Given the description of an element on the screen output the (x, y) to click on. 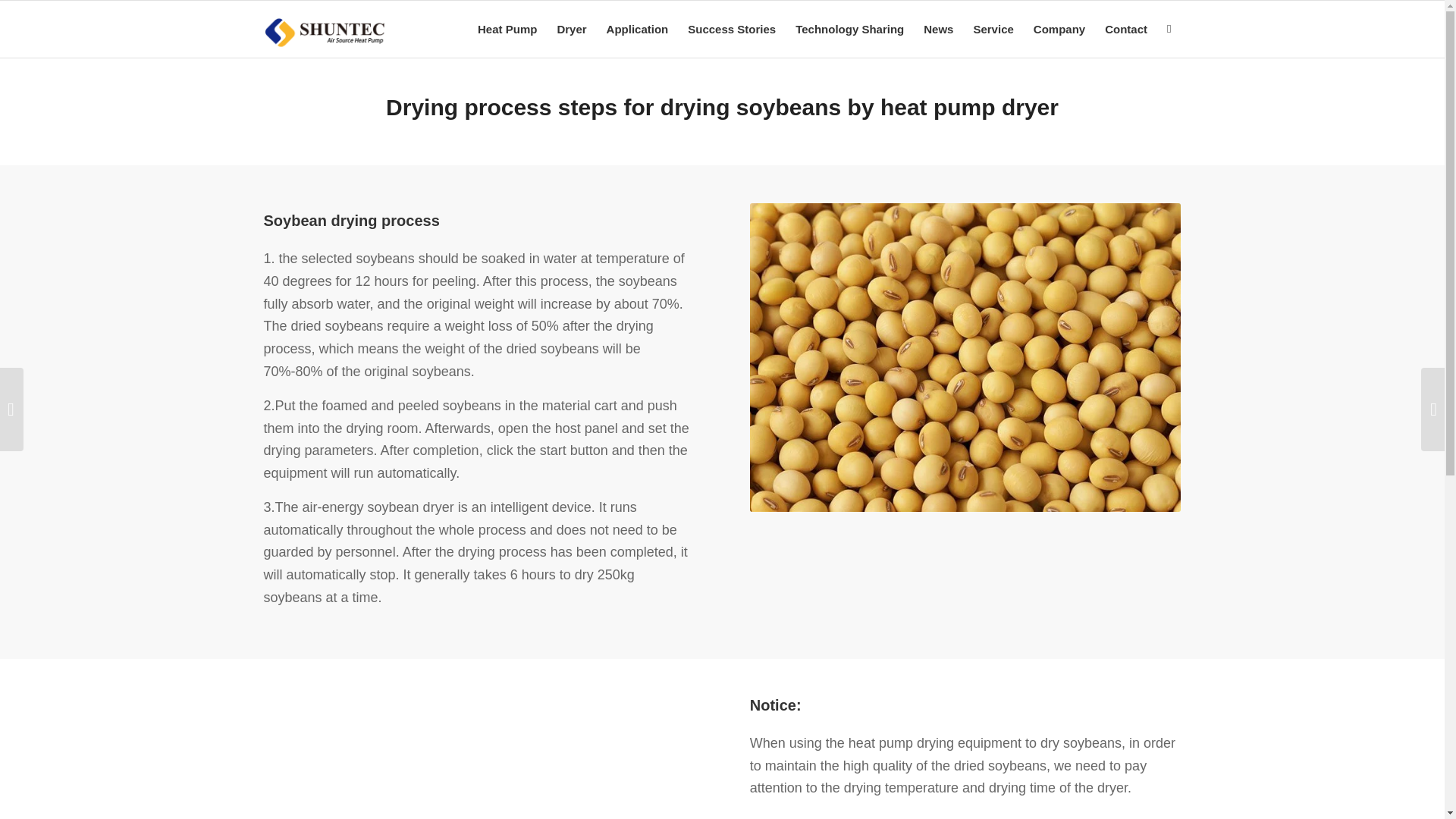
Technology Sharing (850, 28)
drying-of-Soybean-process (964, 357)
Success Stories (732, 28)
Heat Pump (507, 28)
drying-soybeans-by-heat-pump-dryer (479, 757)
Application (637, 28)
